Given the description of an element on the screen output the (x, y) to click on. 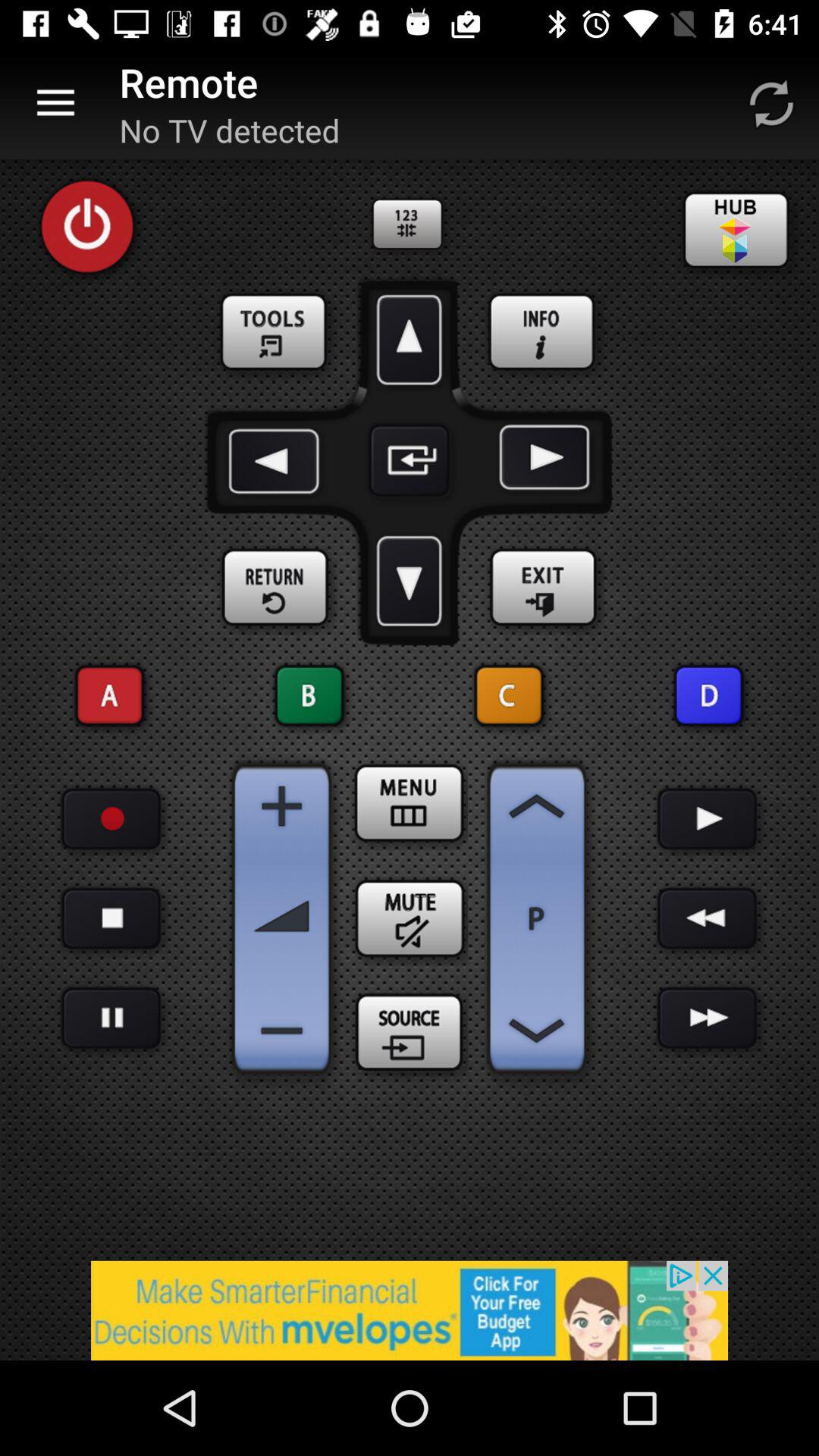
increase (536, 806)
